Given the description of an element on the screen output the (x, y) to click on. 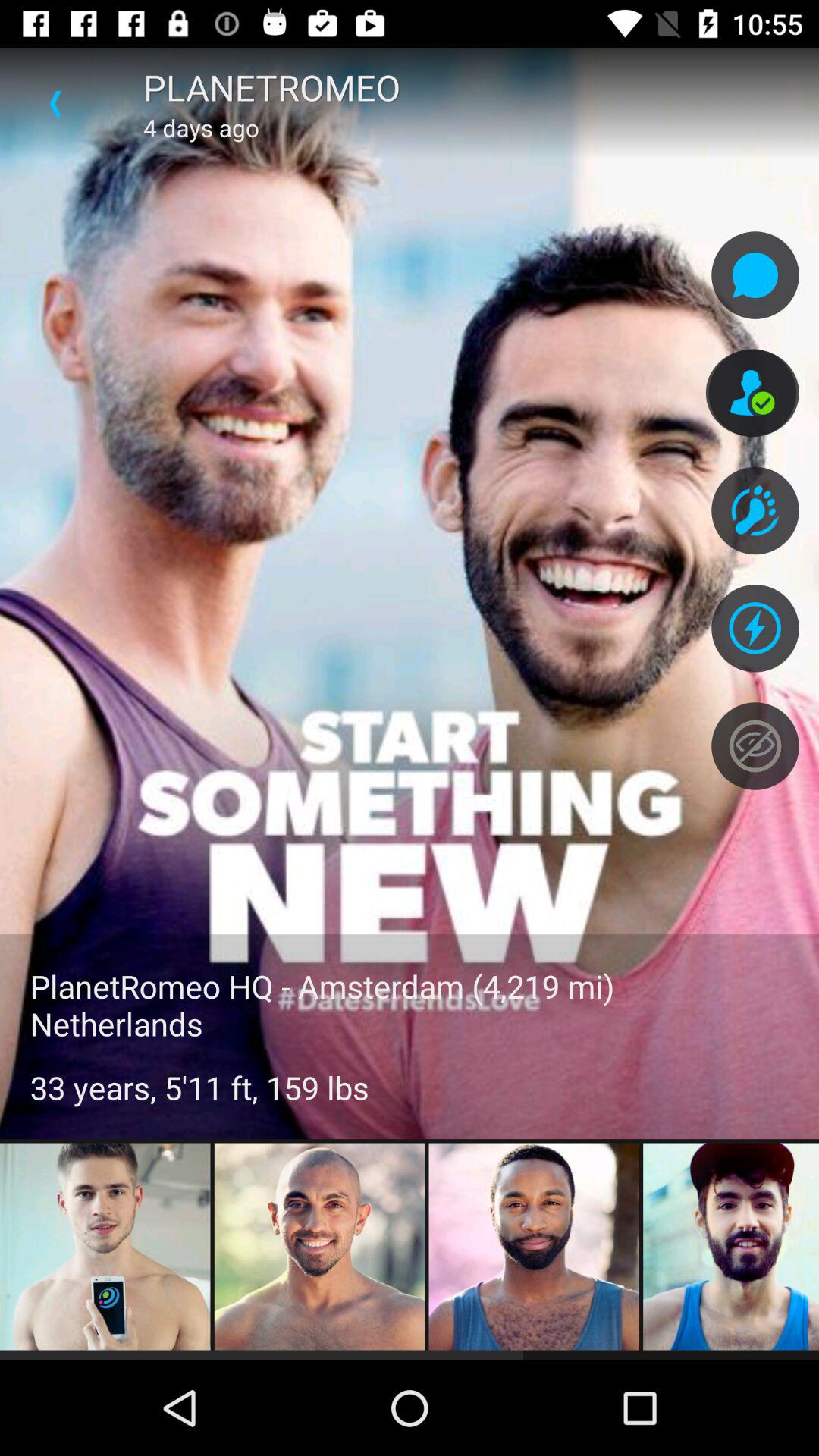
select item next to the planetromeo item (55, 103)
